Given the description of an element on the screen output the (x, y) to click on. 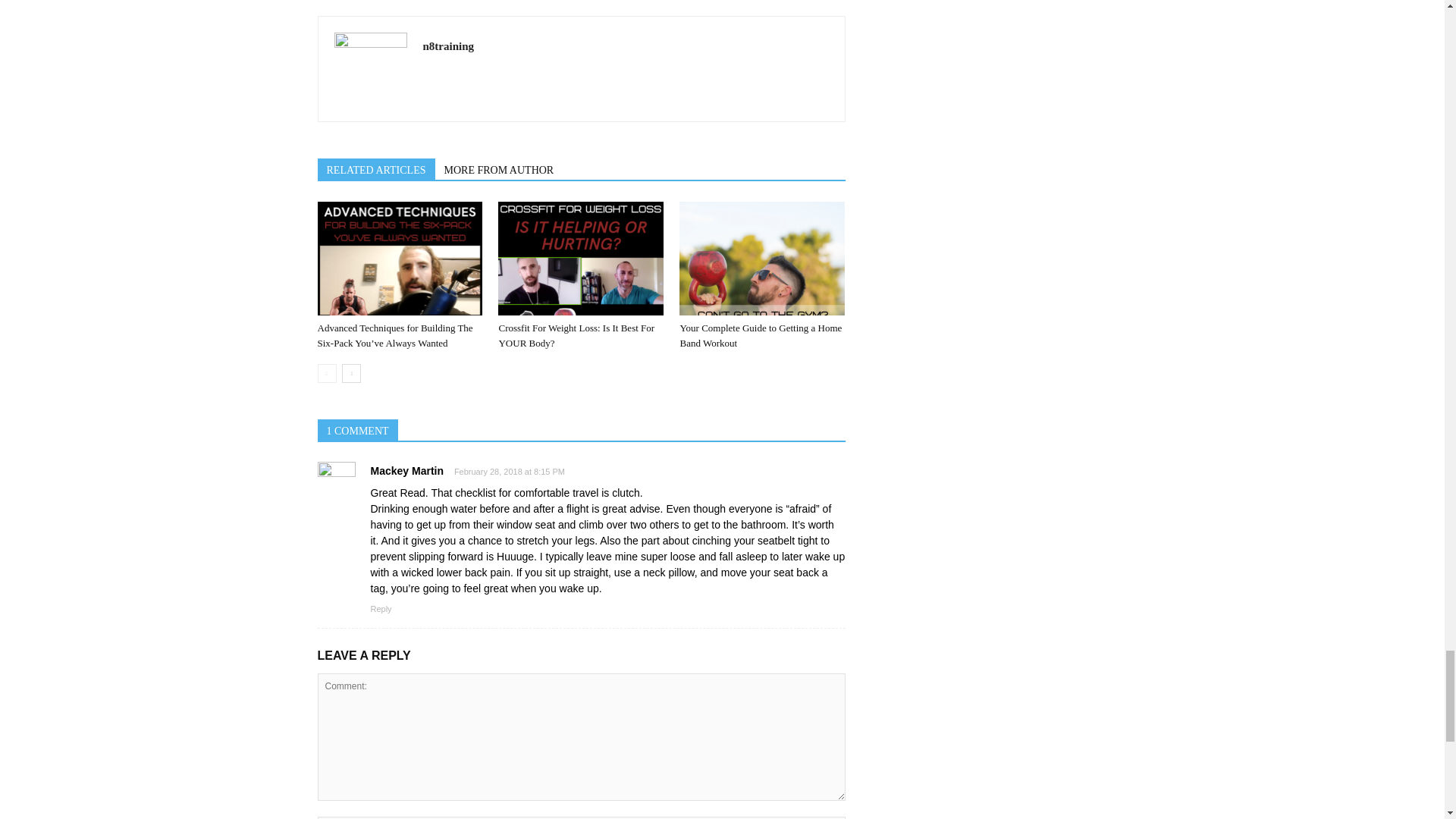
Your Complete Guide to Getting a Home Band Workout (761, 258)
Your Complete Guide to Getting a Home Band Workout (760, 335)
Crossfit For Weight Loss: Is It Best For YOUR Body? (580, 258)
Crossfit For Weight Loss: Is It Best For YOUR Body? (575, 335)
